Given the description of an element on the screen output the (x, y) to click on. 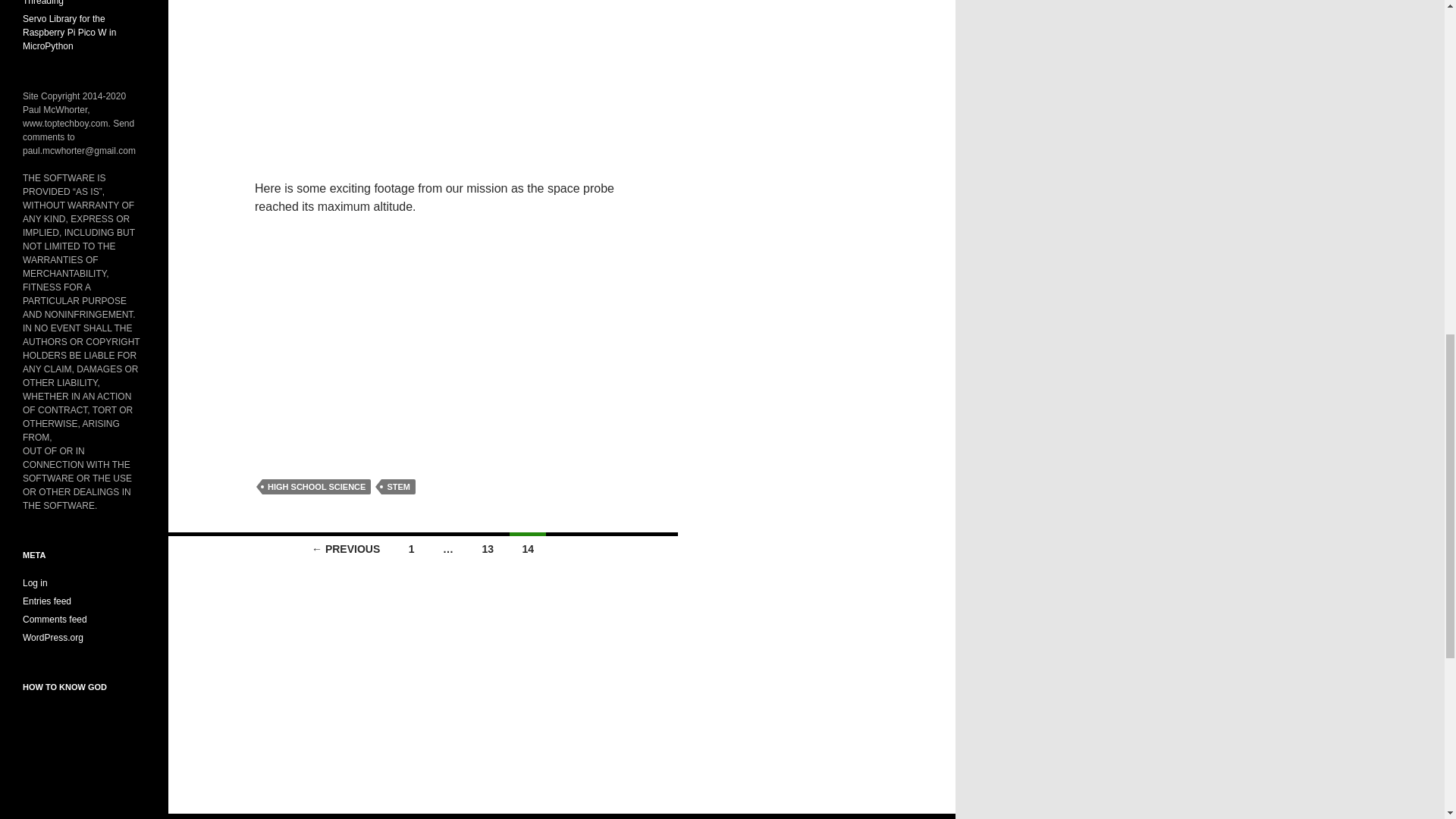
HIGH SCHOOL SCIENCE (316, 486)
13 (486, 547)
1 (411, 547)
STEM (397, 486)
